Given the description of an element on the screen output the (x, y) to click on. 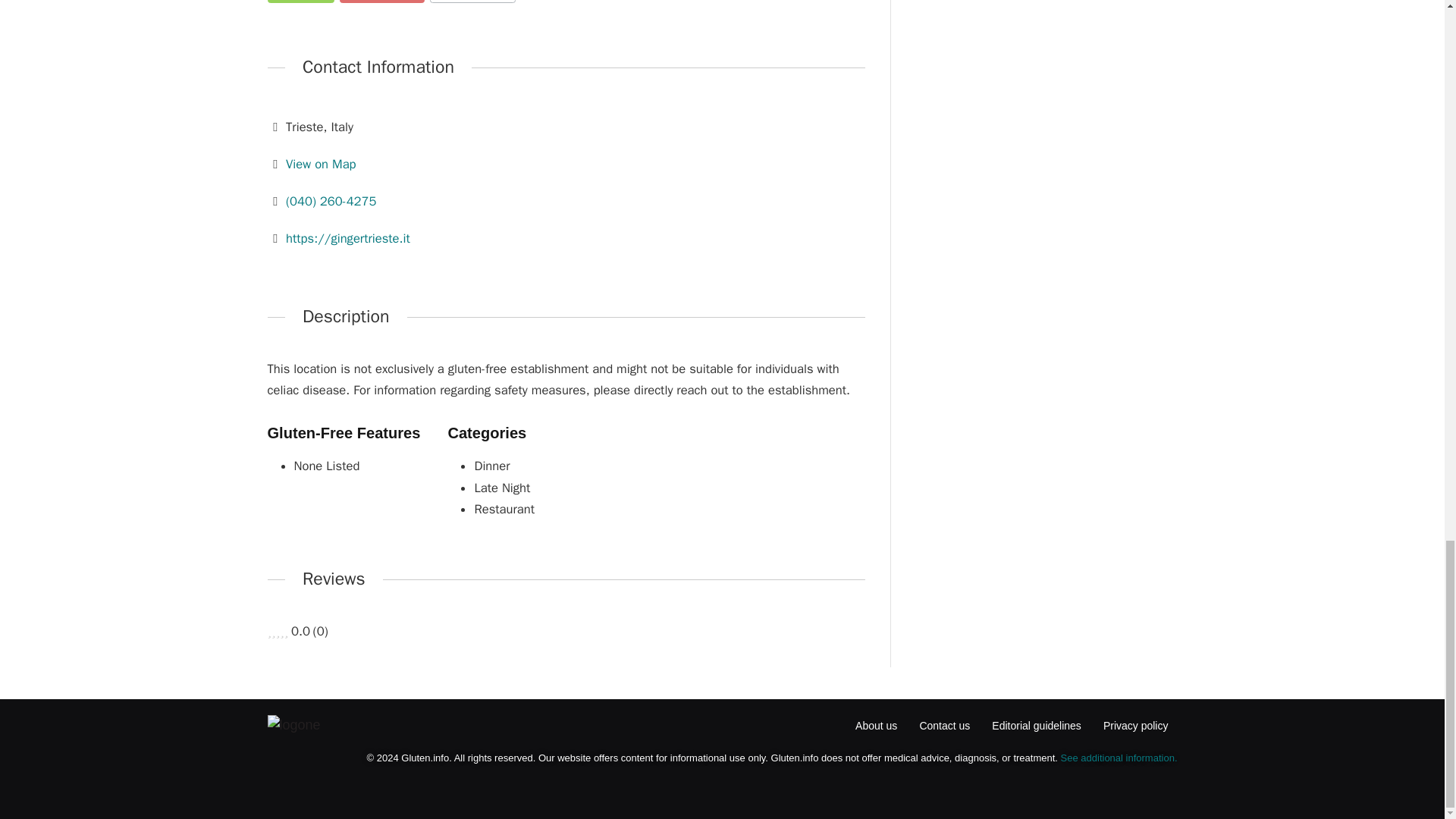
logone (293, 724)
UPVOTE (300, 1)
See additional information. (1119, 757)
Editorial guidelines (1036, 725)
Contact us (943, 725)
DOWNVOTE (382, 1)
About us (876, 725)
0.00 out of 5 stars (277, 631)
View on Map (320, 163)
Privacy policy (1136, 725)
BOOKMARK (472, 1)
